Given the description of an element on the screen output the (x, y) to click on. 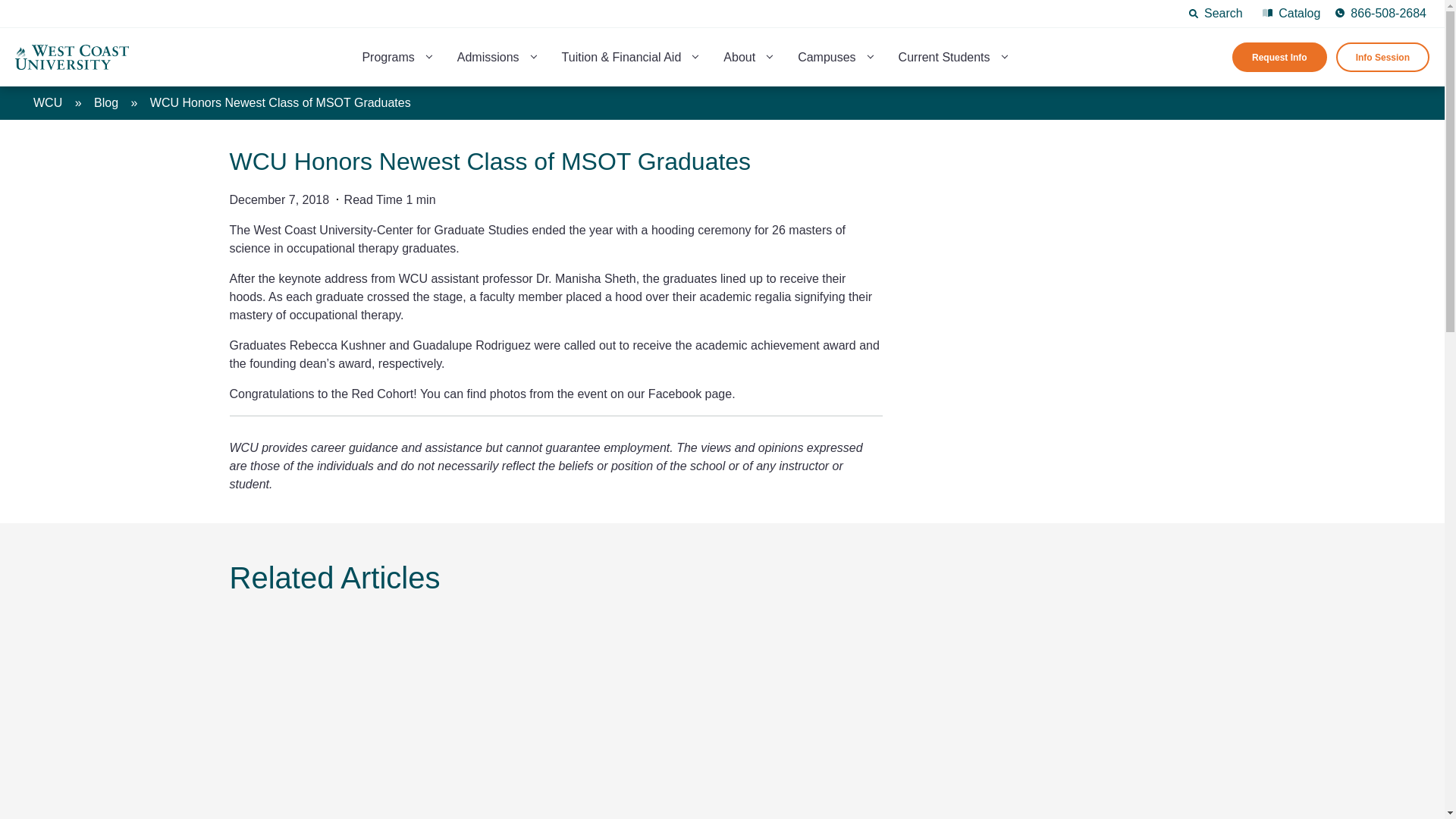
866-508-2684 (1380, 13)
Search (1216, 13)
Programs (387, 57)
